Given the description of an element on the screen output the (x, y) to click on. 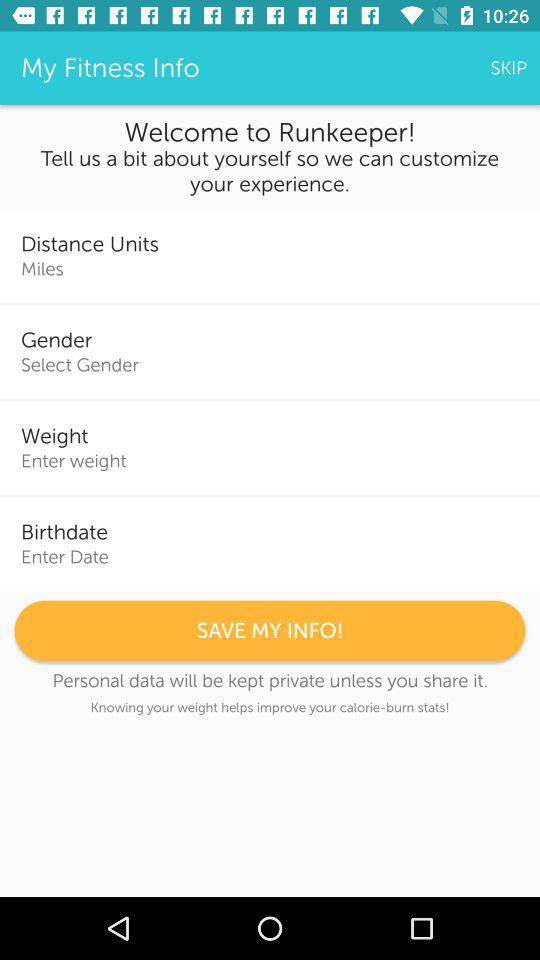
select item to the right of my fitness info app (508, 67)
